Given the description of an element on the screen output the (x, y) to click on. 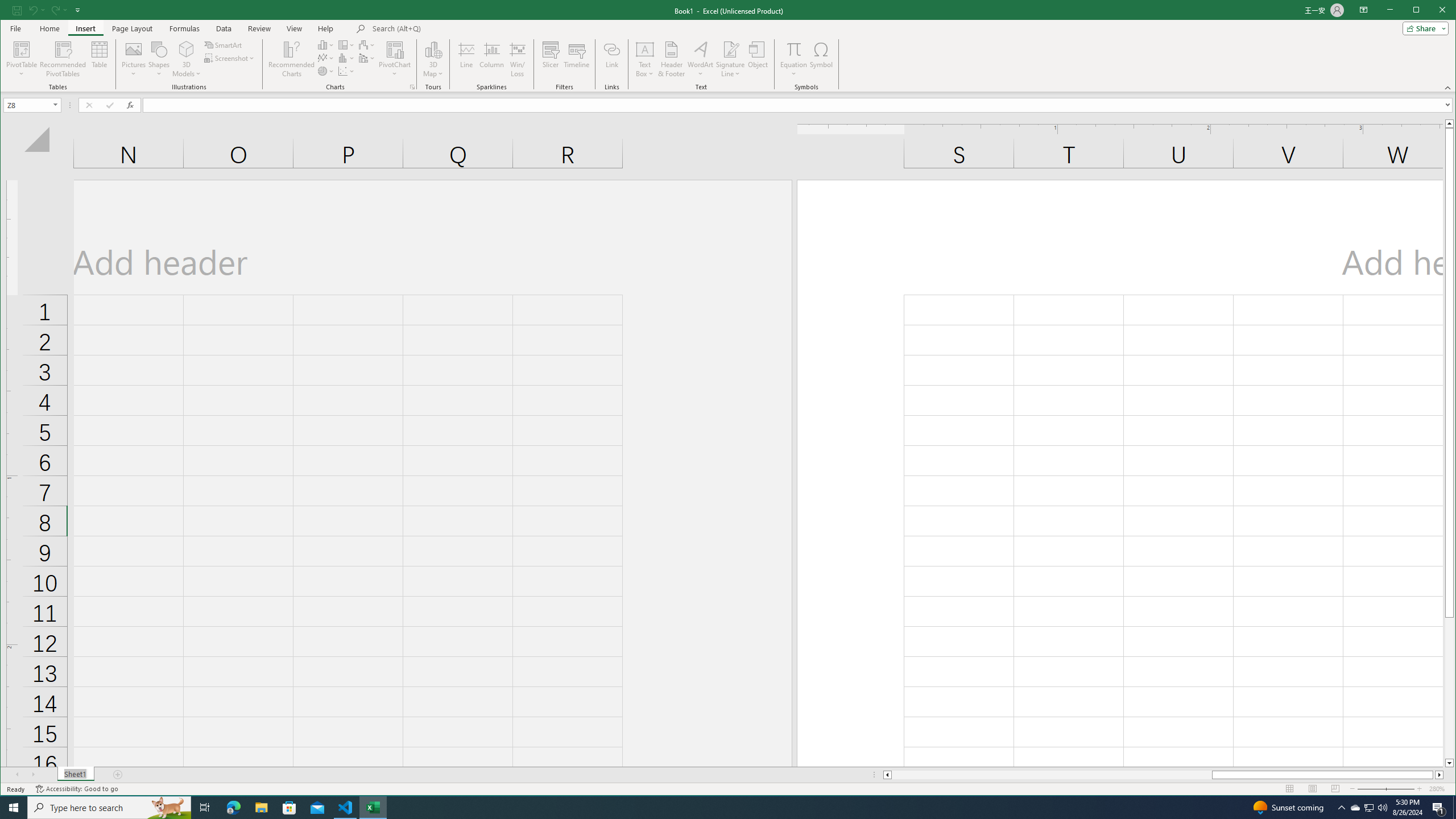
Sunset coming (1288, 807)
Visual Studio Code - 1 running window (345, 807)
Search highlights icon opens search home window (1355, 807)
Insert Scatter (X, Y) or Bubble Chart (167, 807)
Shapes (346, 70)
Text Box (159, 59)
